Given the description of an element on the screen output the (x, y) to click on. 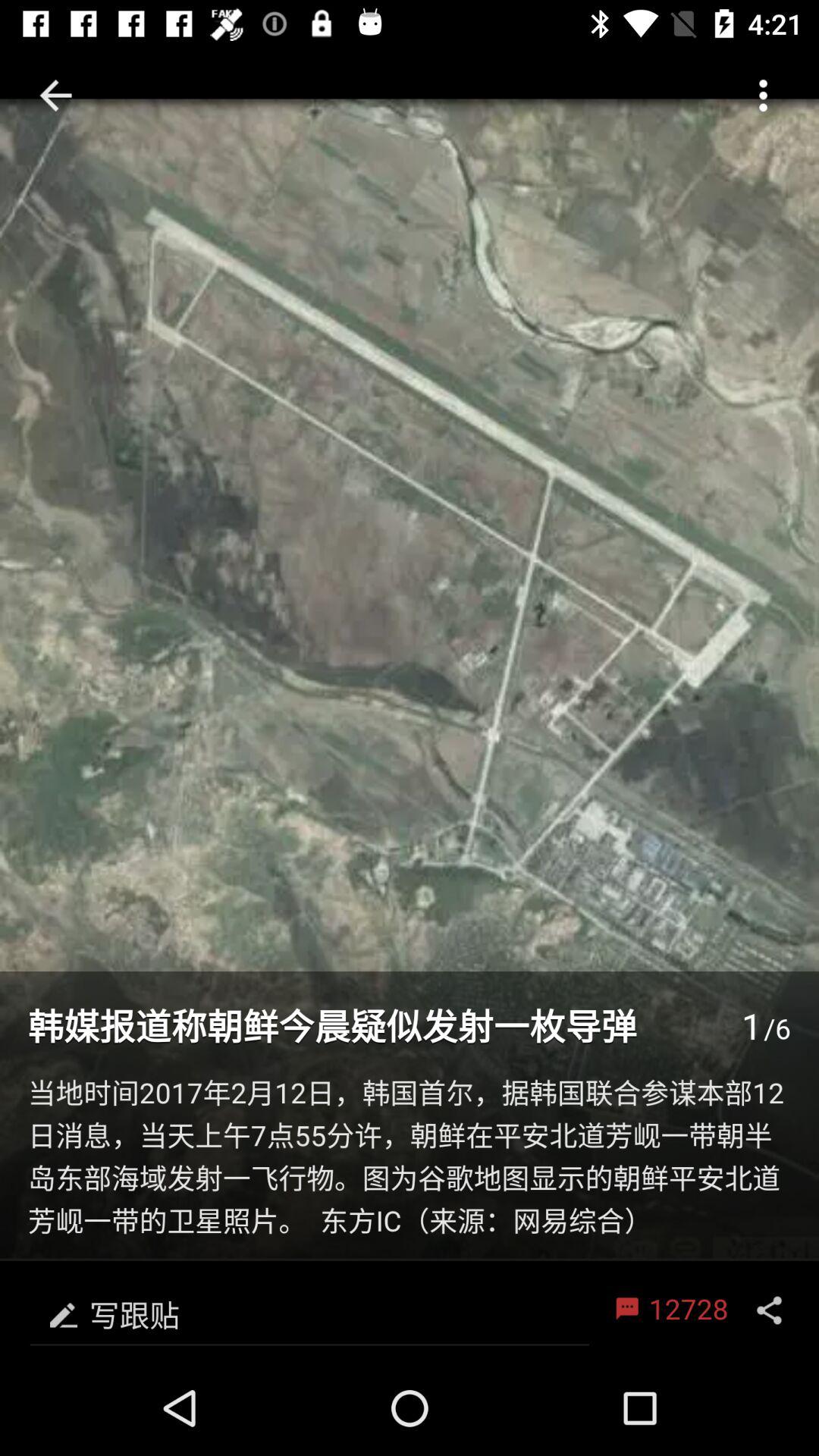
press the icon next to 12728 item (309, 1310)
